Given the description of an element on the screen output the (x, y) to click on. 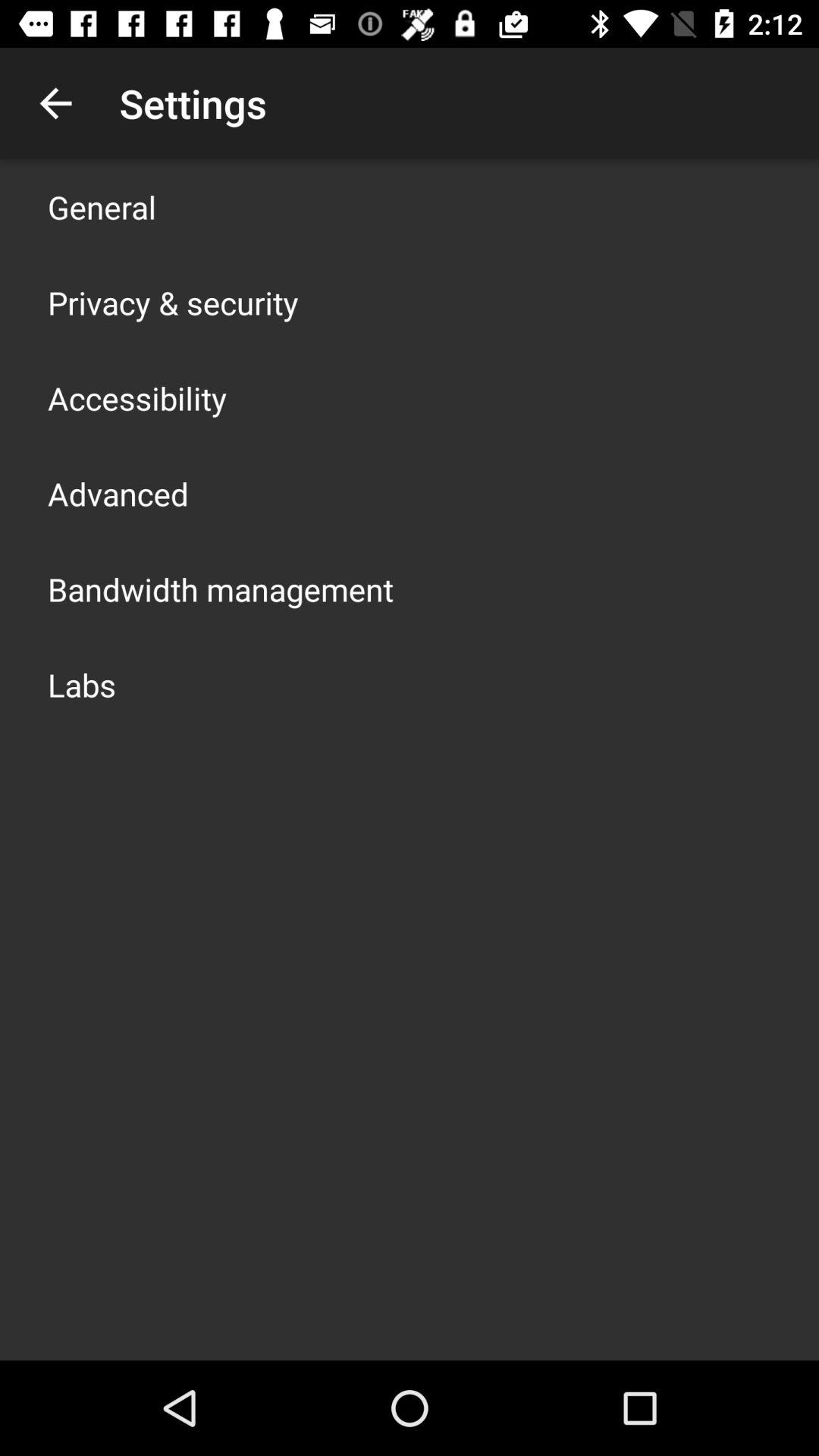
choose icon above the labs app (220, 588)
